Given the description of an element on the screen output the (x, y) to click on. 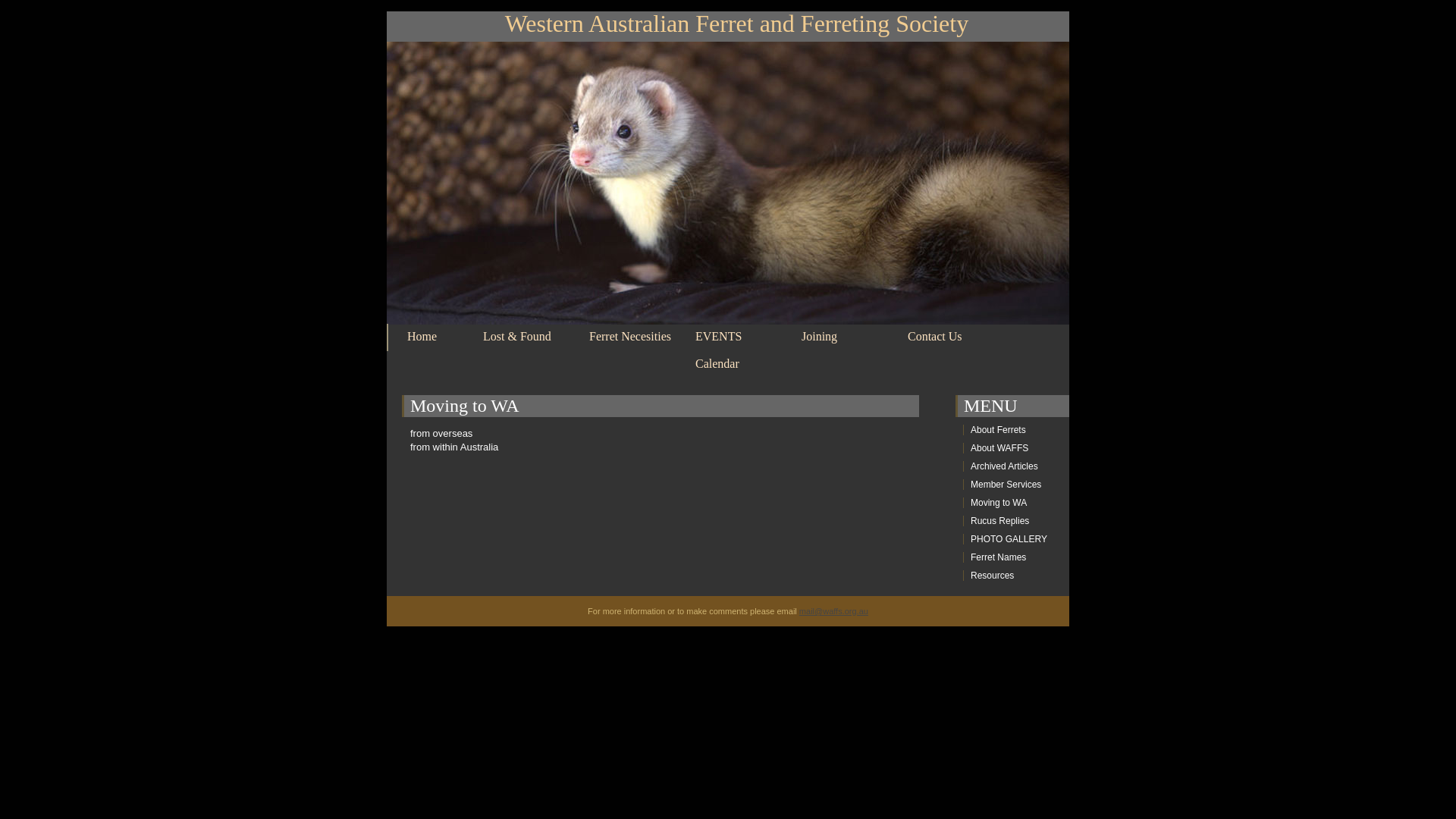
mail@waffs.org.au Element type: text (833, 610)
EVENTS Calendar Element type: text (718, 349)
PHOTO GALLERY Element type: text (1008, 538)
Contact Us Element type: text (934, 335)
Home Element type: text (421, 335)
Joining Element type: text (819, 335)
Member Services Element type: text (1005, 484)
Rucus Replies Element type: text (999, 520)
from within Australia Element type: text (454, 446)
Moving to WA Element type: text (998, 502)
Archived Articles Element type: text (1004, 466)
Lost & Found Element type: text (517, 335)
Ferret Names Element type: text (998, 557)
Resources Element type: text (991, 575)
About Ferrets Element type: text (998, 429)
About WAFFS Element type: text (999, 447)
from overseas Element type: text (441, 433)
Ferret Necesities Element type: text (630, 335)
